Given the description of an element on the screen output the (x, y) to click on. 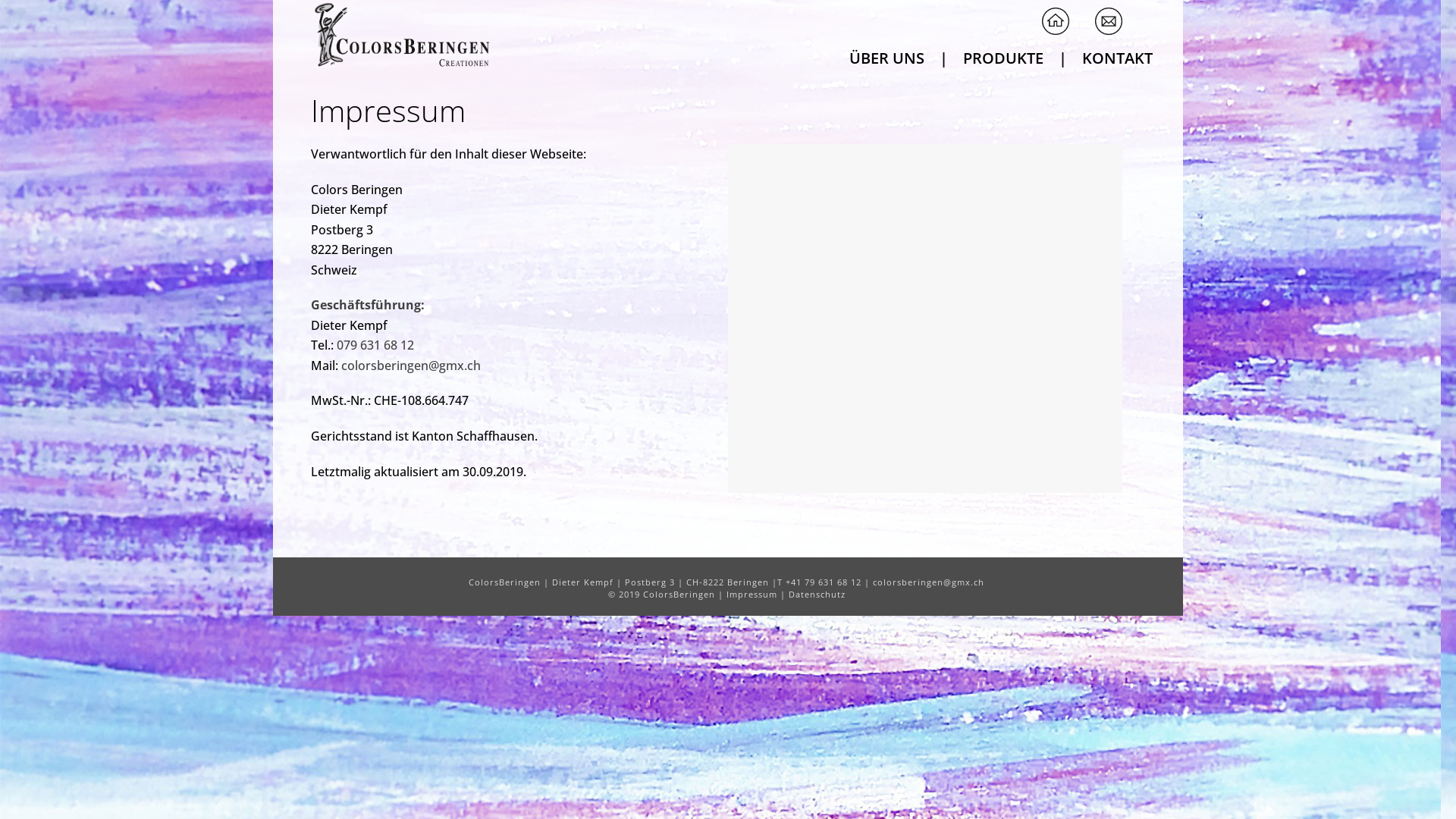
PRODUKTE Element type: text (1003, 56)
079 631 68 12 Element type: text (375, 344)
Malfarbenmanufaktur seit 1996 Element type: hover (399, 34)
Impressum Element type: text (751, 593)
T +41 79 631 68 12 Element type: text (819, 581)
| Element type: text (943, 56)
KONTAKT Element type: text (1117, 56)
colorsberingen@gmx.ch Element type: text (928, 581)
colorsberingen@gmx.ch Element type: text (410, 365)
Datenschutz Element type: text (816, 593)
| Element type: text (1062, 56)
